Given the description of an element on the screen output the (x, y) to click on. 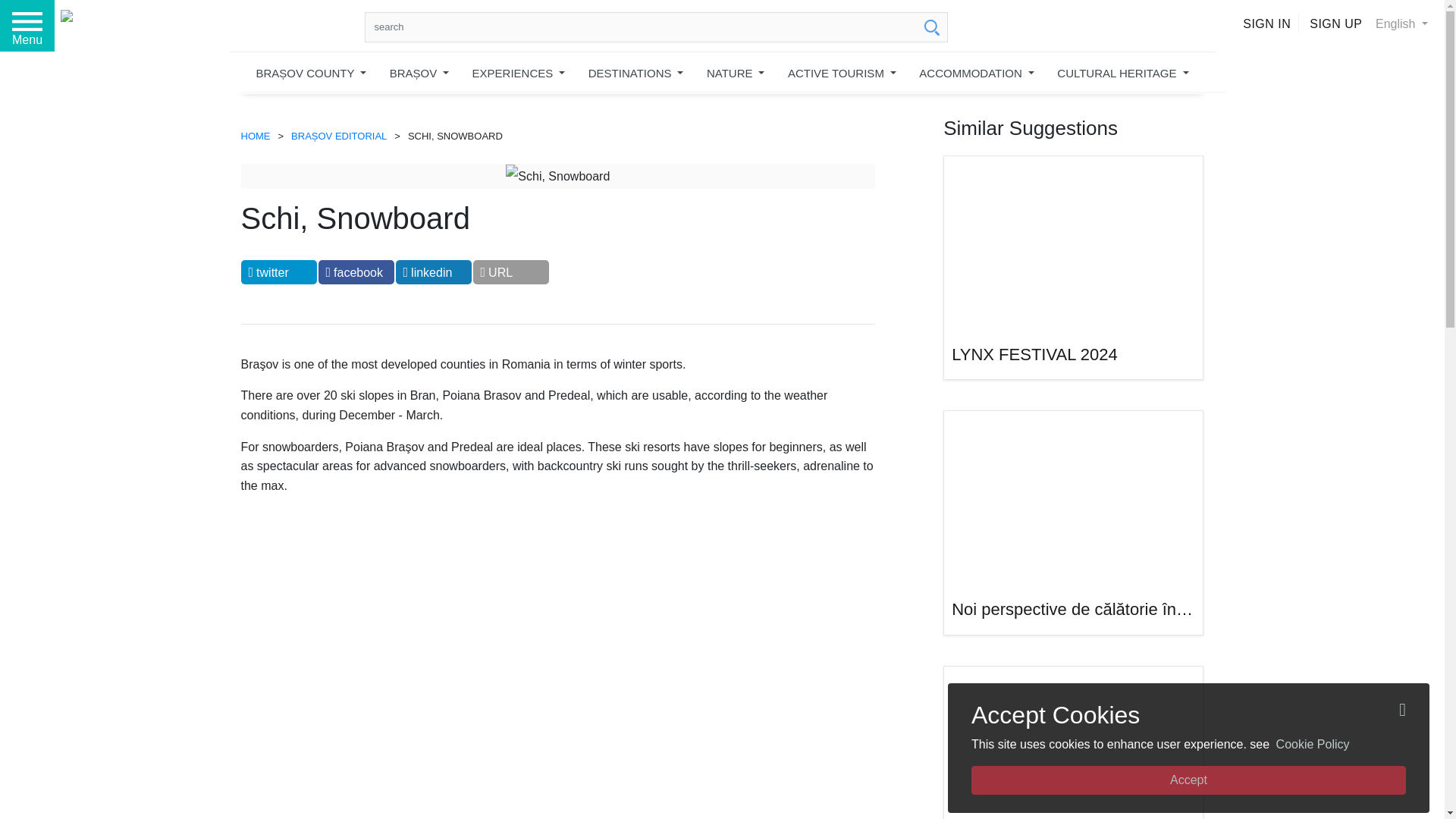
Share to Facebook (356, 272)
Share to Twitter (279, 272)
Share URL (510, 272)
Share to Linkedin (433, 272)
Menu (27, 25)
